Given the description of an element on the screen output the (x, y) to click on. 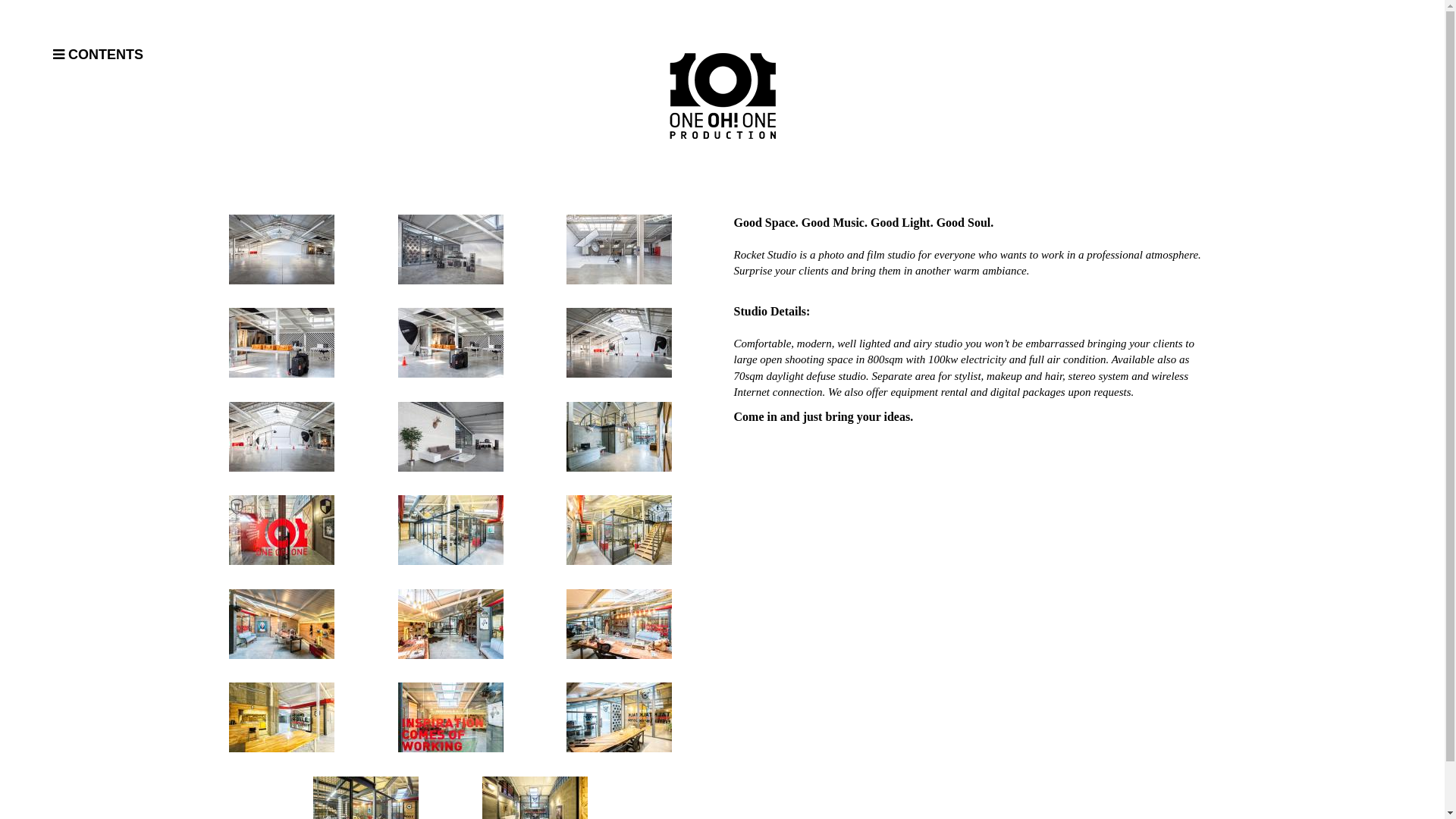
CONTENTS Element type: text (147, 55)
